Given the description of an element on the screen output the (x, y) to click on. 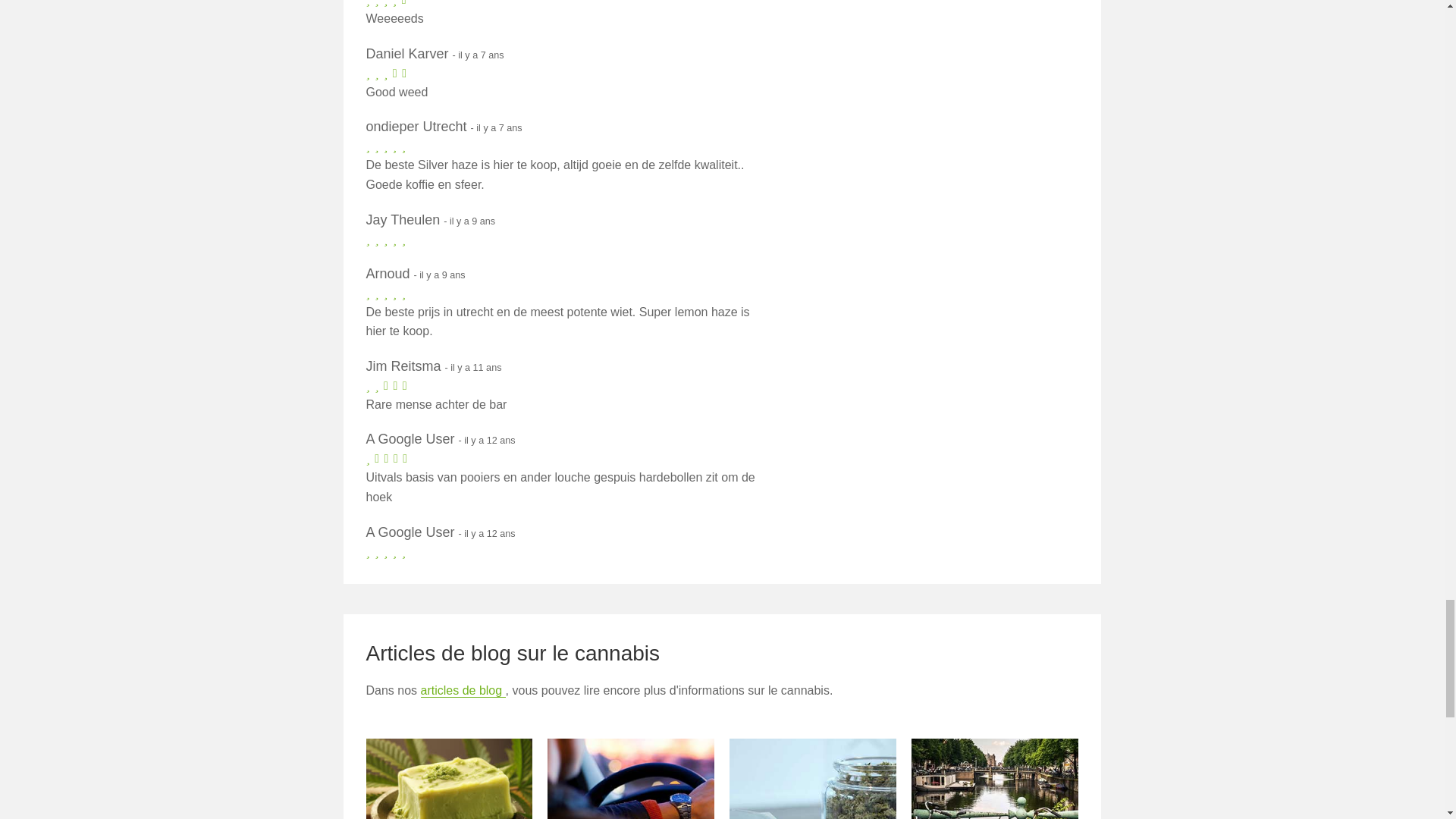
articles de blog (462, 690)
